Given the description of an element on the screen output the (x, y) to click on. 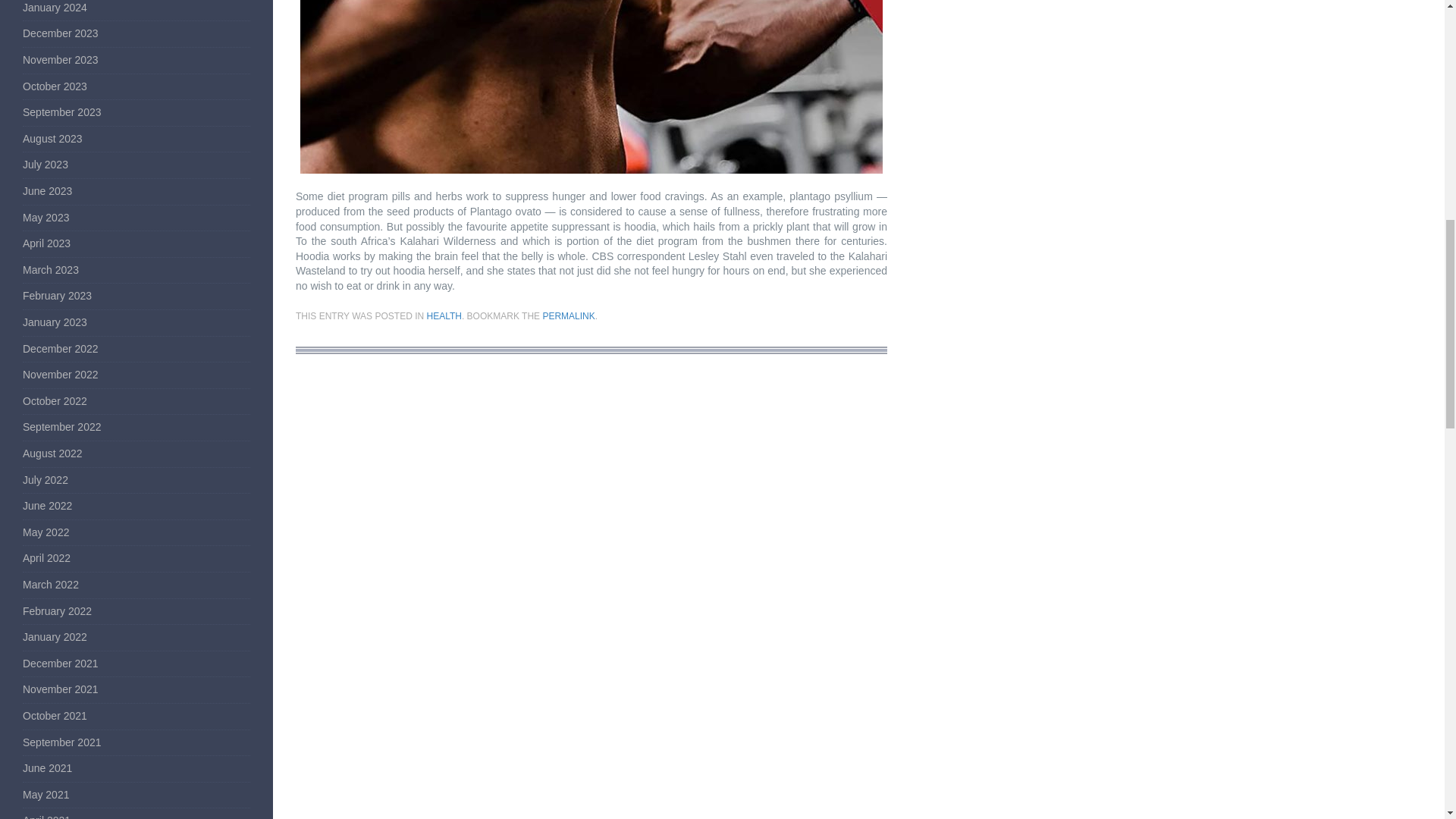
December 2022 (61, 348)
October 2023 (55, 86)
November 2023 (61, 60)
July 2022 (45, 480)
April 2023 (46, 243)
June 2023 (47, 191)
January 2024 (55, 7)
July 2023 (45, 164)
February 2023 (57, 295)
August 2023 (52, 138)
March 2023 (50, 269)
March 2022 (50, 584)
September 2023 (62, 111)
June 2022 (47, 505)
April 2022 (46, 558)
